Given the description of an element on the screen output the (x, y) to click on. 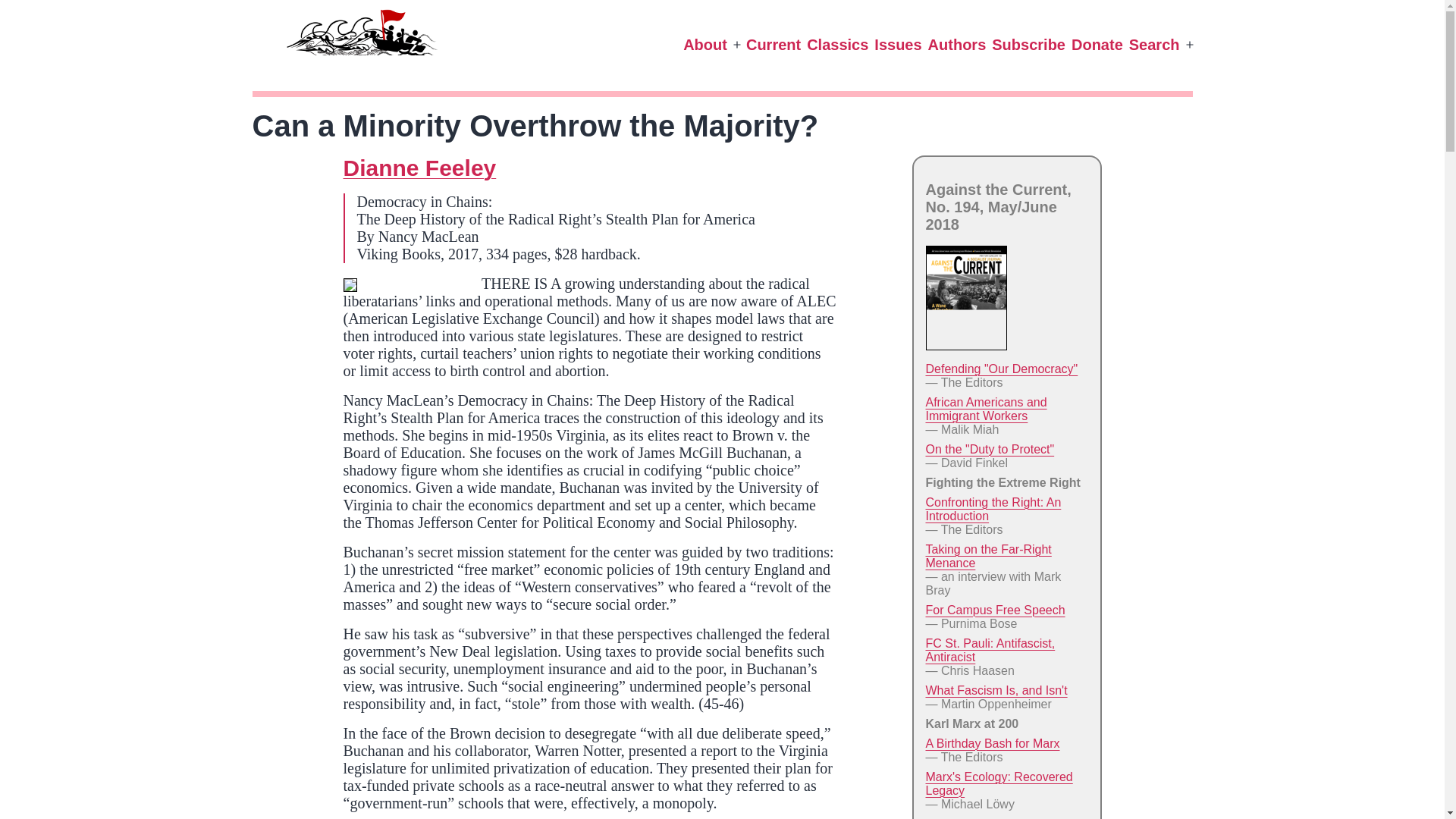
Open menu (1188, 45)
About (704, 45)
Confronting the Right: An Introduction (992, 509)
What Fascism Is, and Isn't (995, 689)
FC St. Pauli: Antifascist, Antiracist (989, 650)
Search (1153, 45)
Current (772, 45)
Open menu (736, 45)
Subscribe (1028, 45)
Issues (897, 45)
Defending "Our Democracy" (1000, 368)
For Campus Free Speech (994, 609)
Taking on the Far-Right Menance (987, 555)
African Americans and Immigrant Workers (985, 408)
Donate (1096, 45)
